Given the description of an element on the screen output the (x, y) to click on. 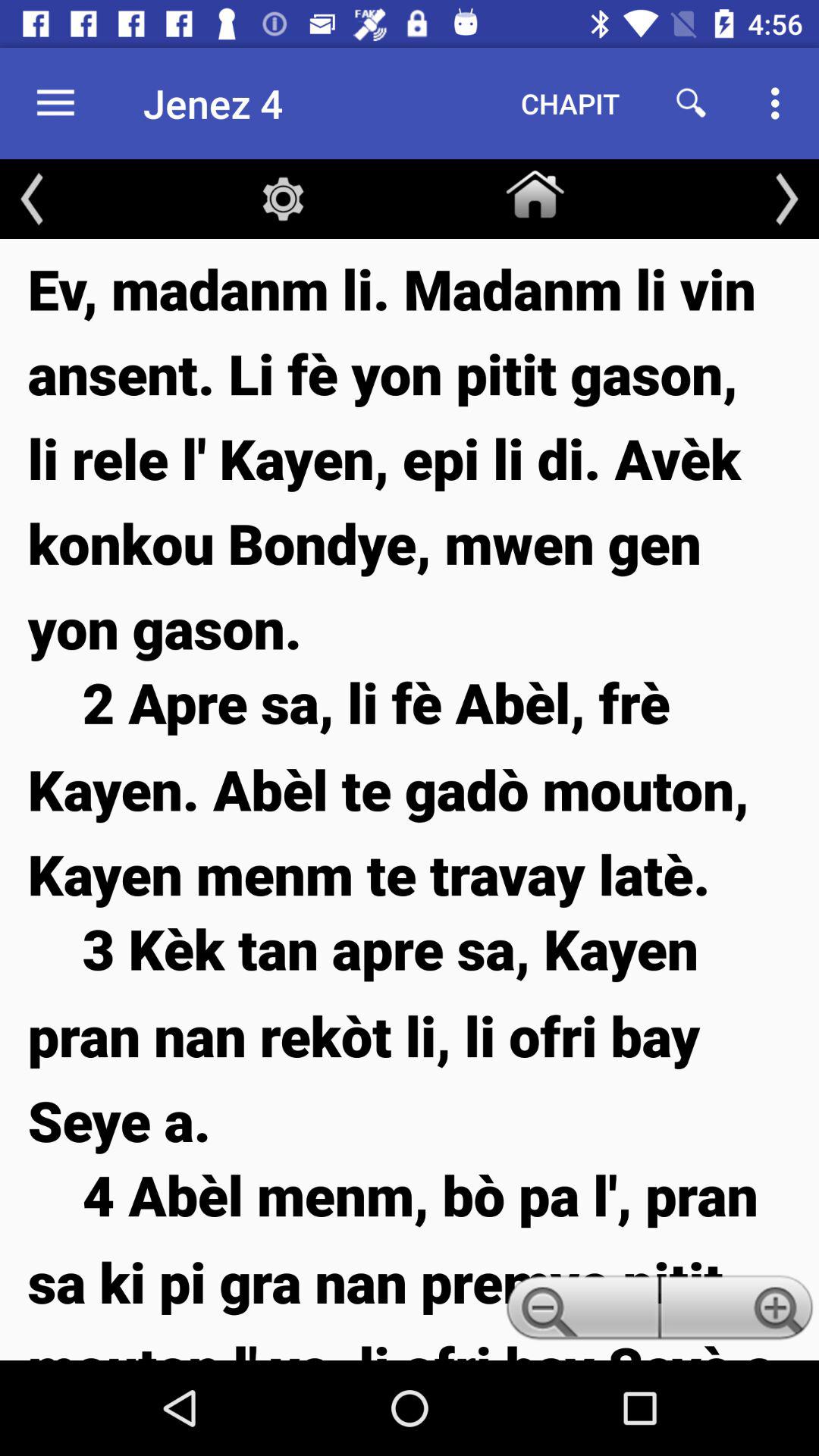
press icon next to the jenez 4 (570, 103)
